Given the description of an element on the screen output the (x, y) to click on. 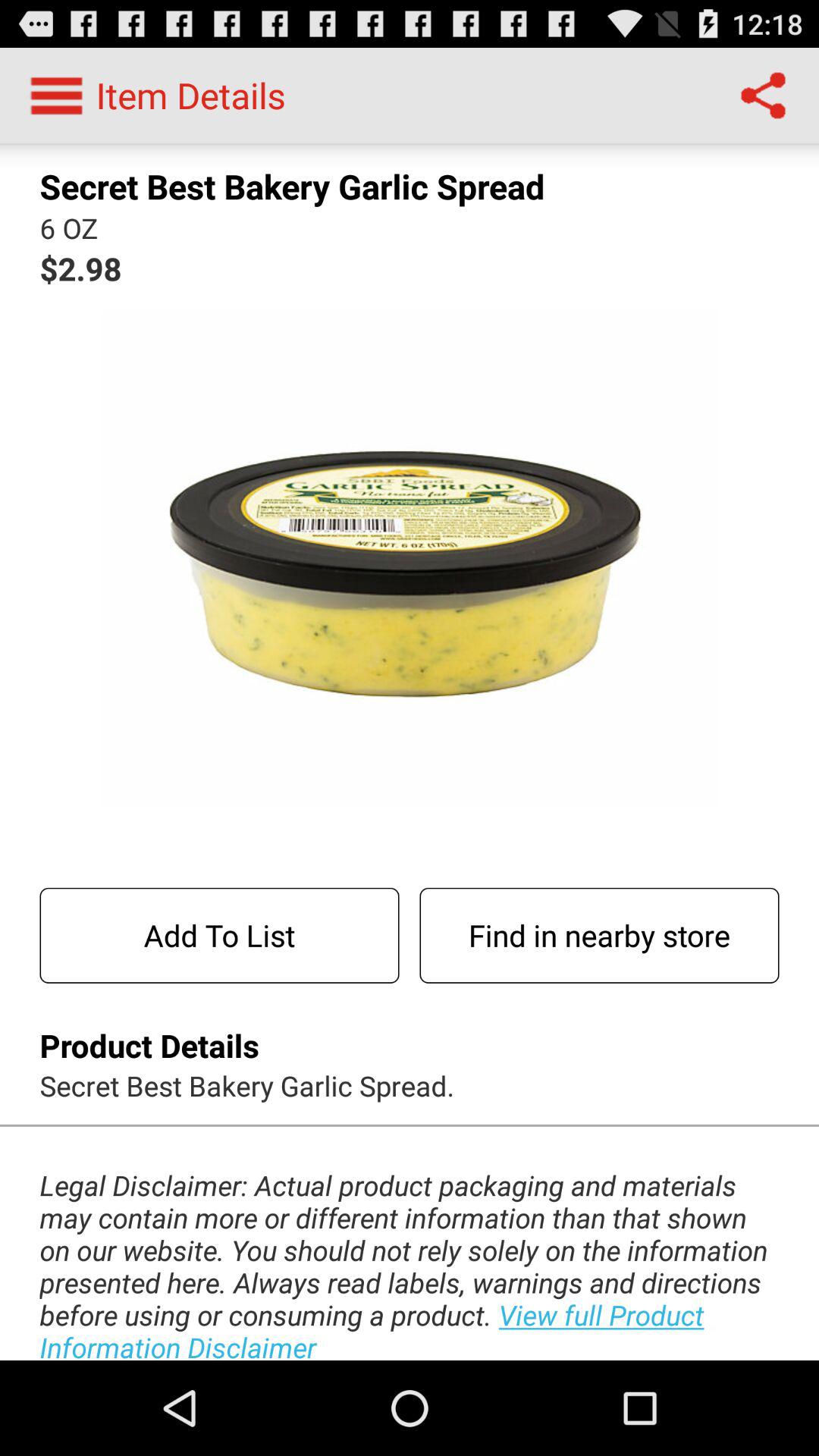
select the menu bar which is left to the item details (55, 95)
